Given the description of an element on the screen output the (x, y) to click on. 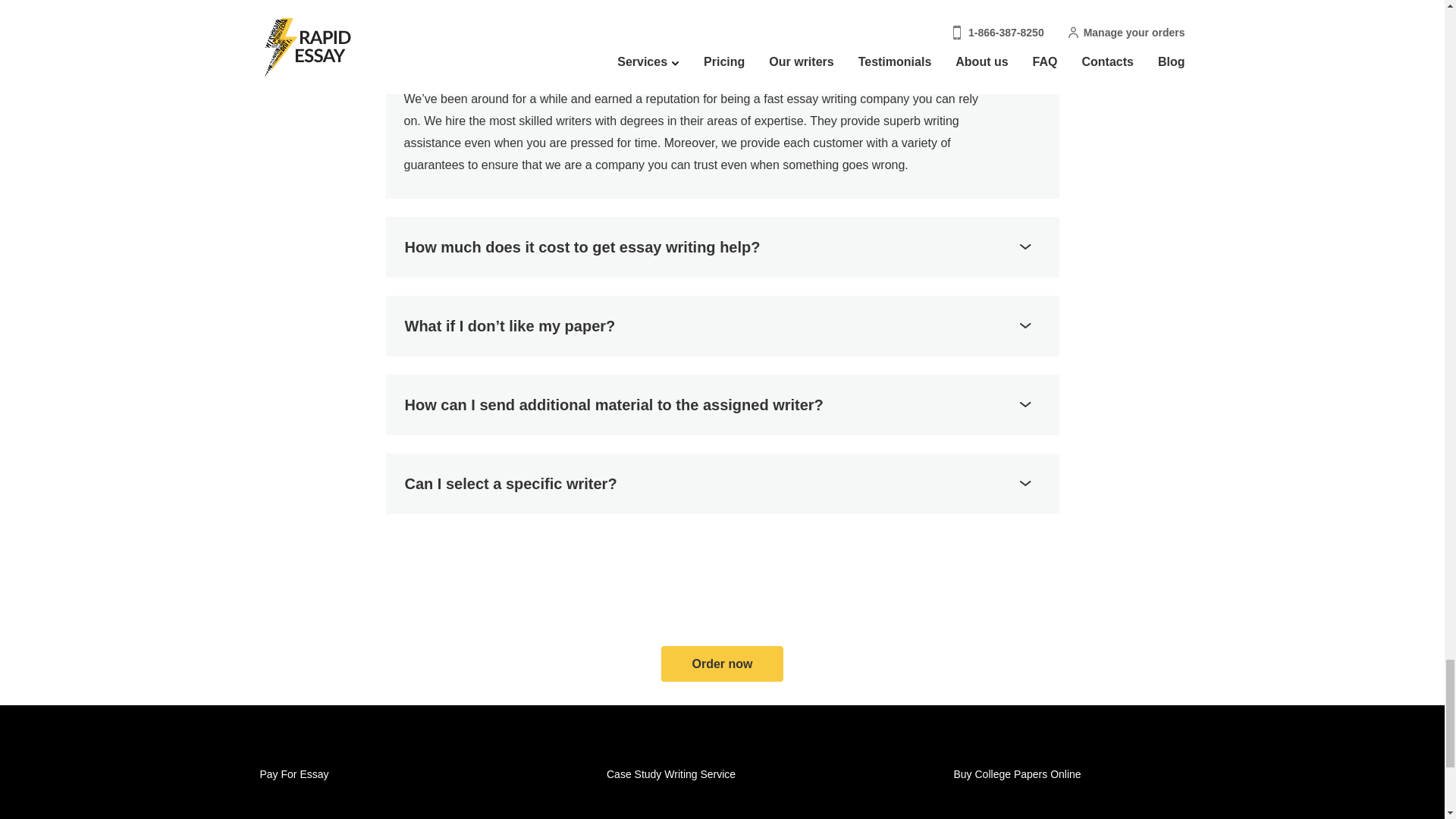
Order now (722, 663)
Case Study Writing Service (671, 774)
Buy College Papers Online (1017, 774)
Pay For Essay (294, 774)
